Given the description of an element on the screen output the (x, y) to click on. 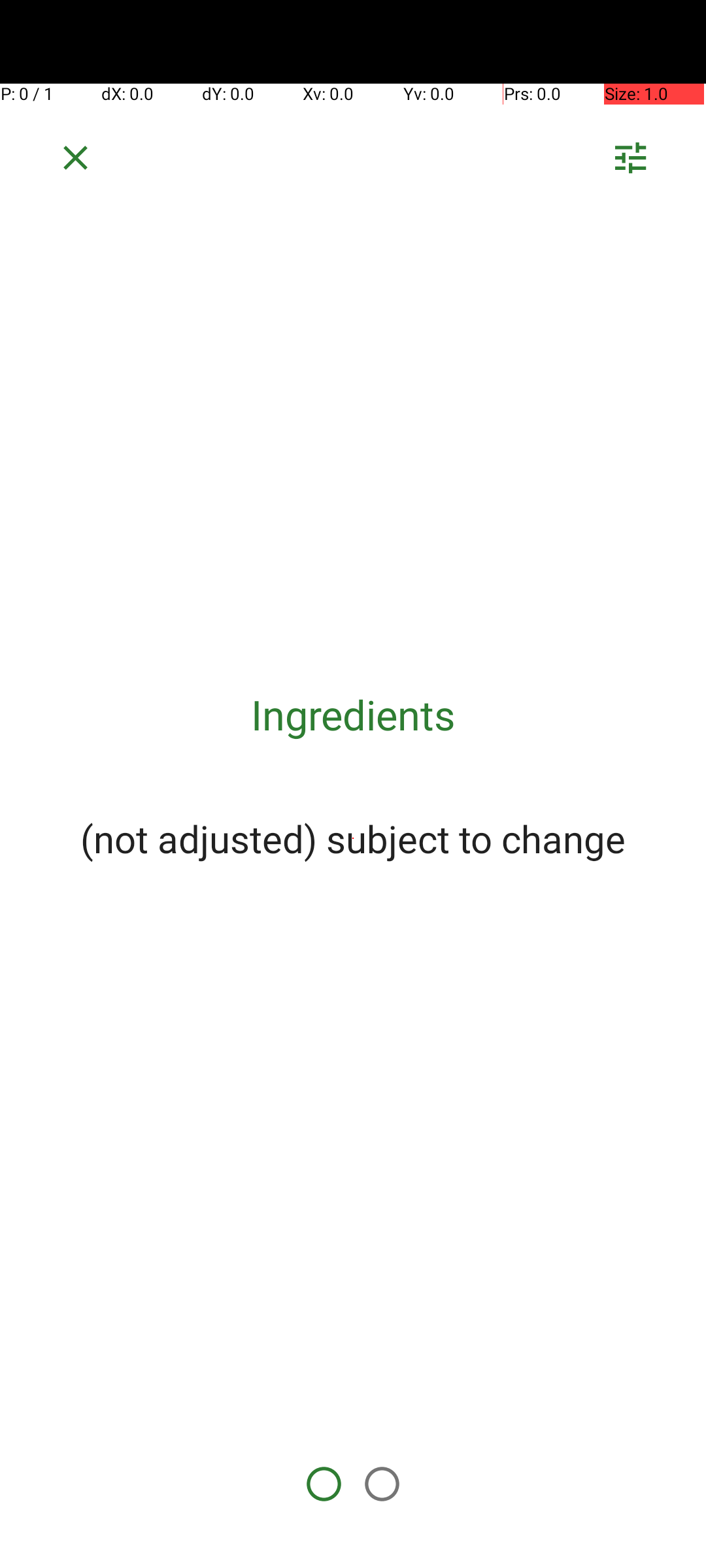
(not adjusted) subject to change Element type: android.widget.TextView (353, 838)
